Given the description of an element on the screen output the (x, y) to click on. 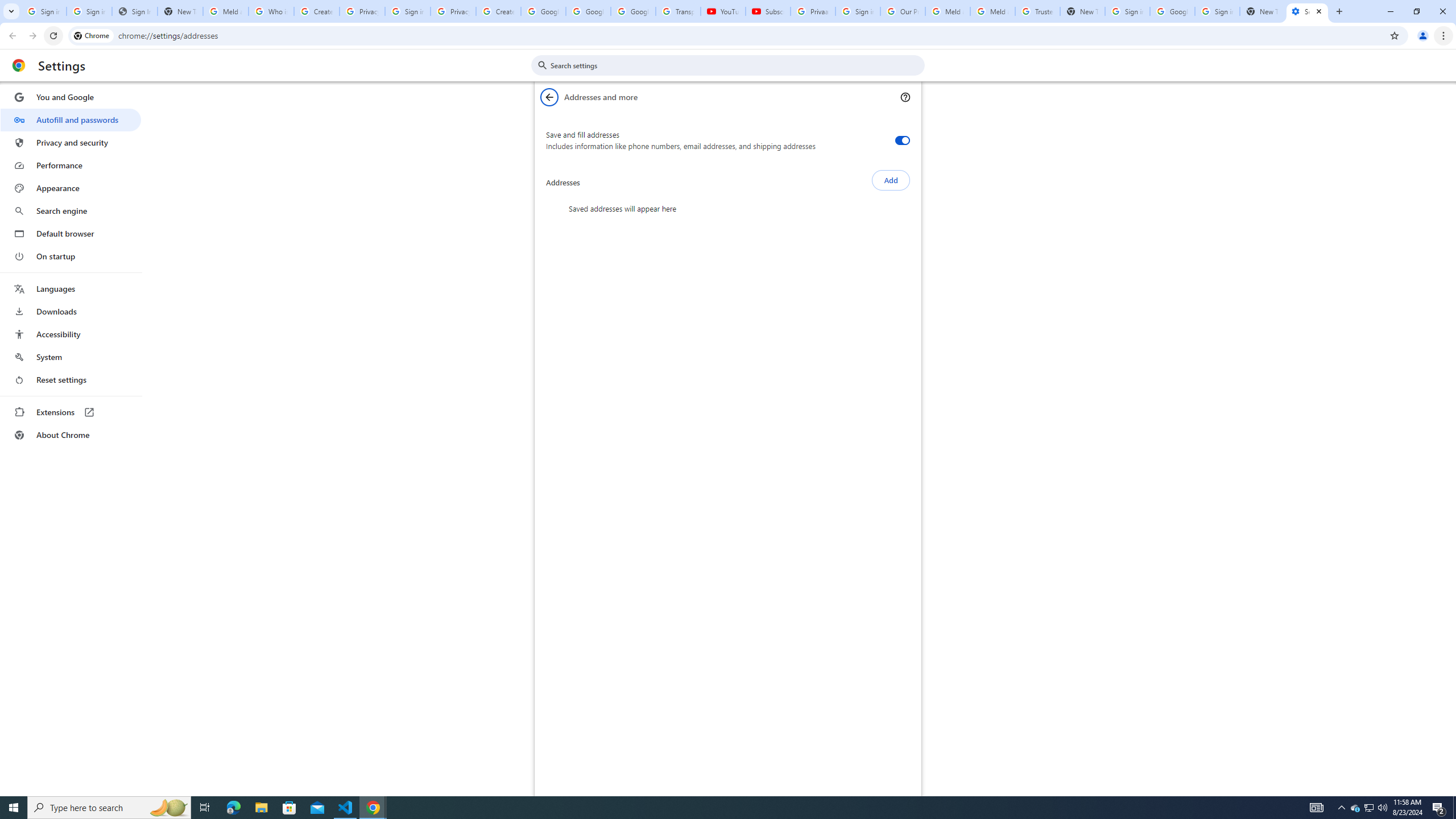
About Chrome (70, 434)
Settings - Addresses and more (1307, 11)
Appearance (70, 187)
Default browser (70, 233)
Privacy and security (70, 142)
Sign in - Google Accounts (857, 11)
Create your Google Account (497, 11)
